Given the description of an element on the screen output the (x, y) to click on. 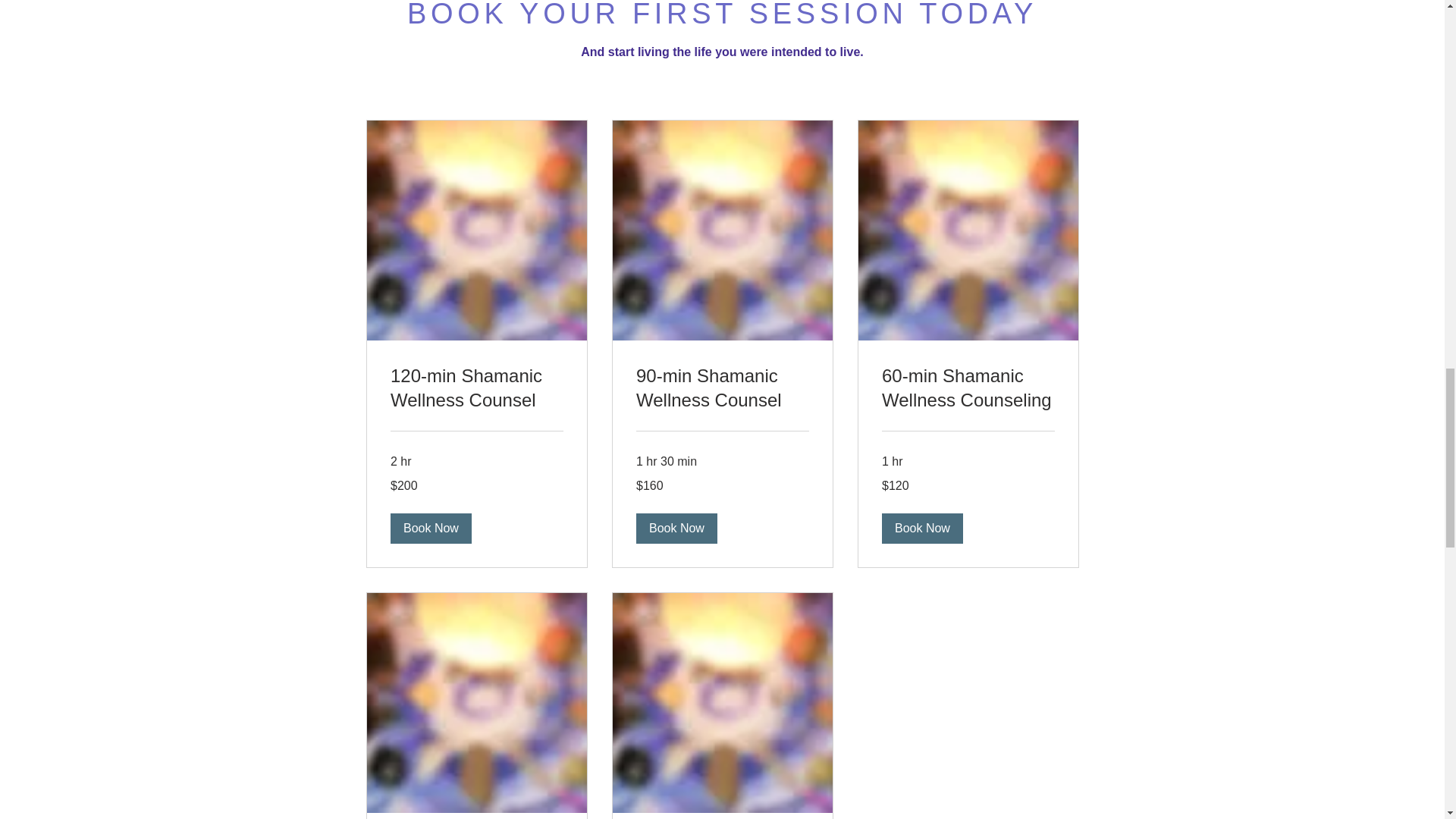
120-min Shamanic Wellness Counsel (476, 387)
90-min Shamanic Wellness Counsel (721, 387)
Book Now (430, 527)
Book Now (675, 527)
Book Now (921, 527)
60-min Shamanic Wellness Counseling (967, 387)
